Given the description of an element on the screen output the (x, y) to click on. 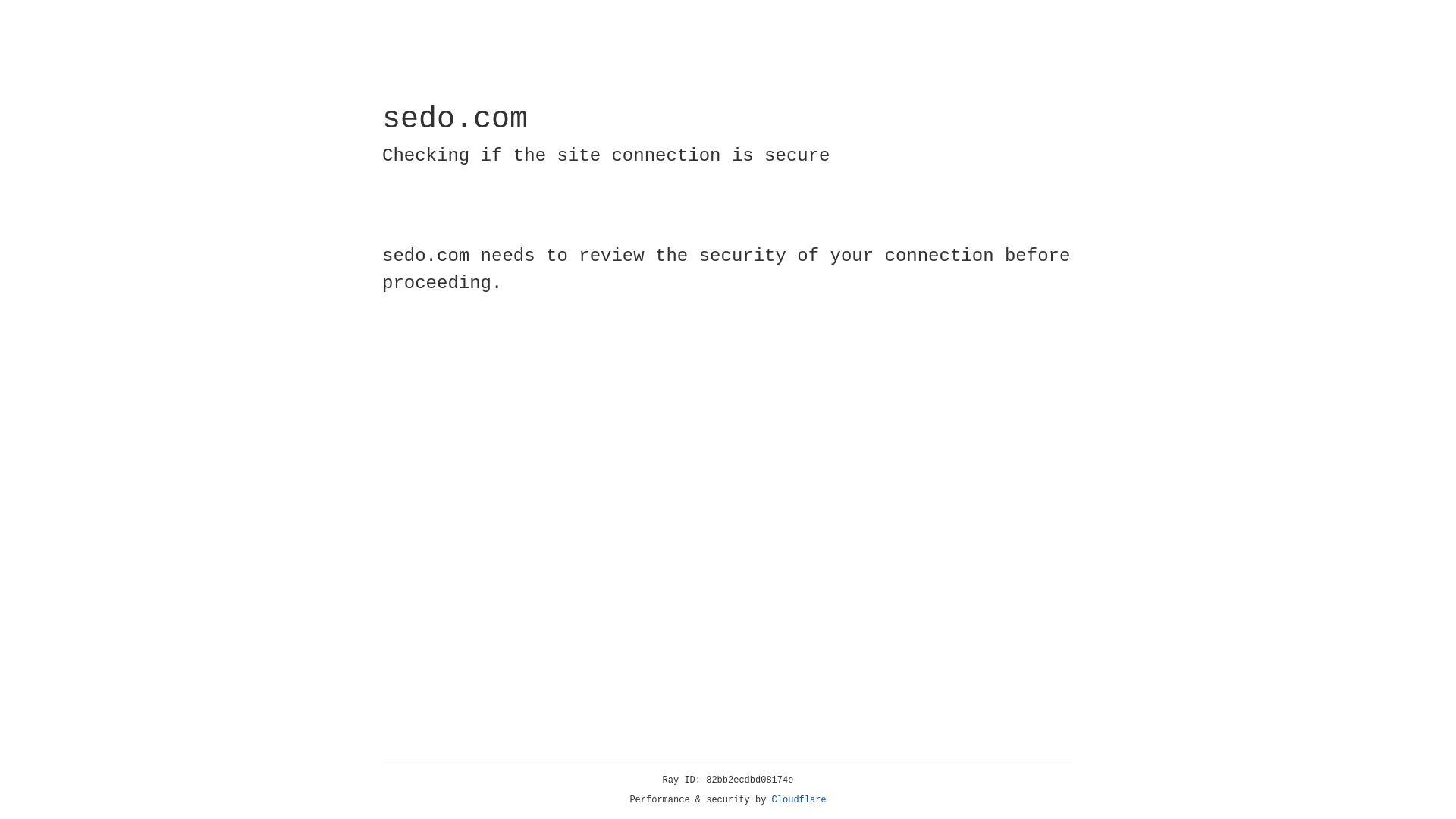
Cloudflare Element type: text (798, 799)
